Given the description of an element on the screen output the (x, y) to click on. 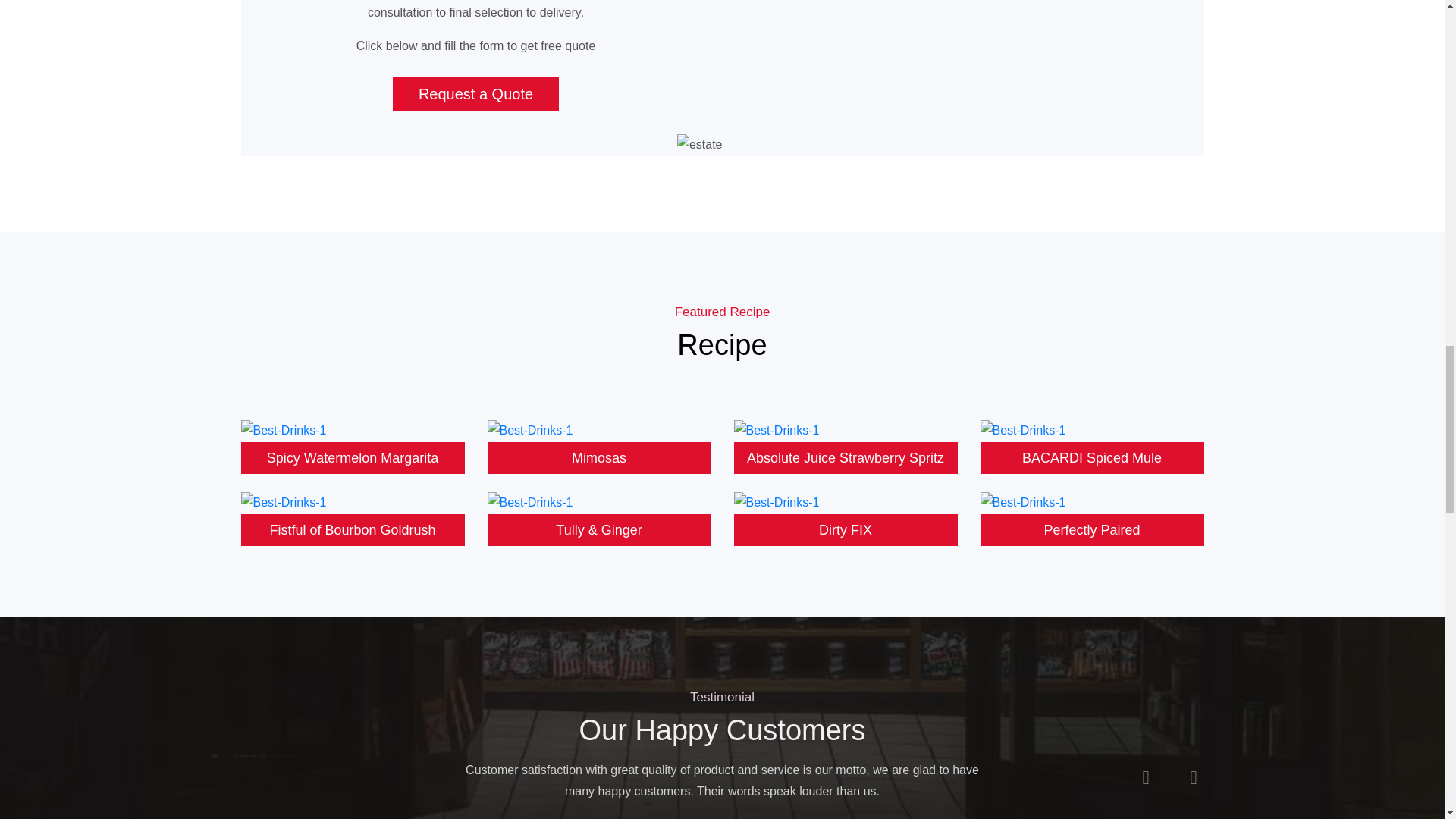
Absolute Juice Strawberry Spritz (845, 446)
Spicy Watermelon Margarita (352, 446)
BACARDI Spiced Mule (1091, 446)
Mimosas (598, 446)
Request a Quote (476, 93)
Fistful of Bourbon Goldrush (352, 519)
